Given the description of an element on the screen output the (x, y) to click on. 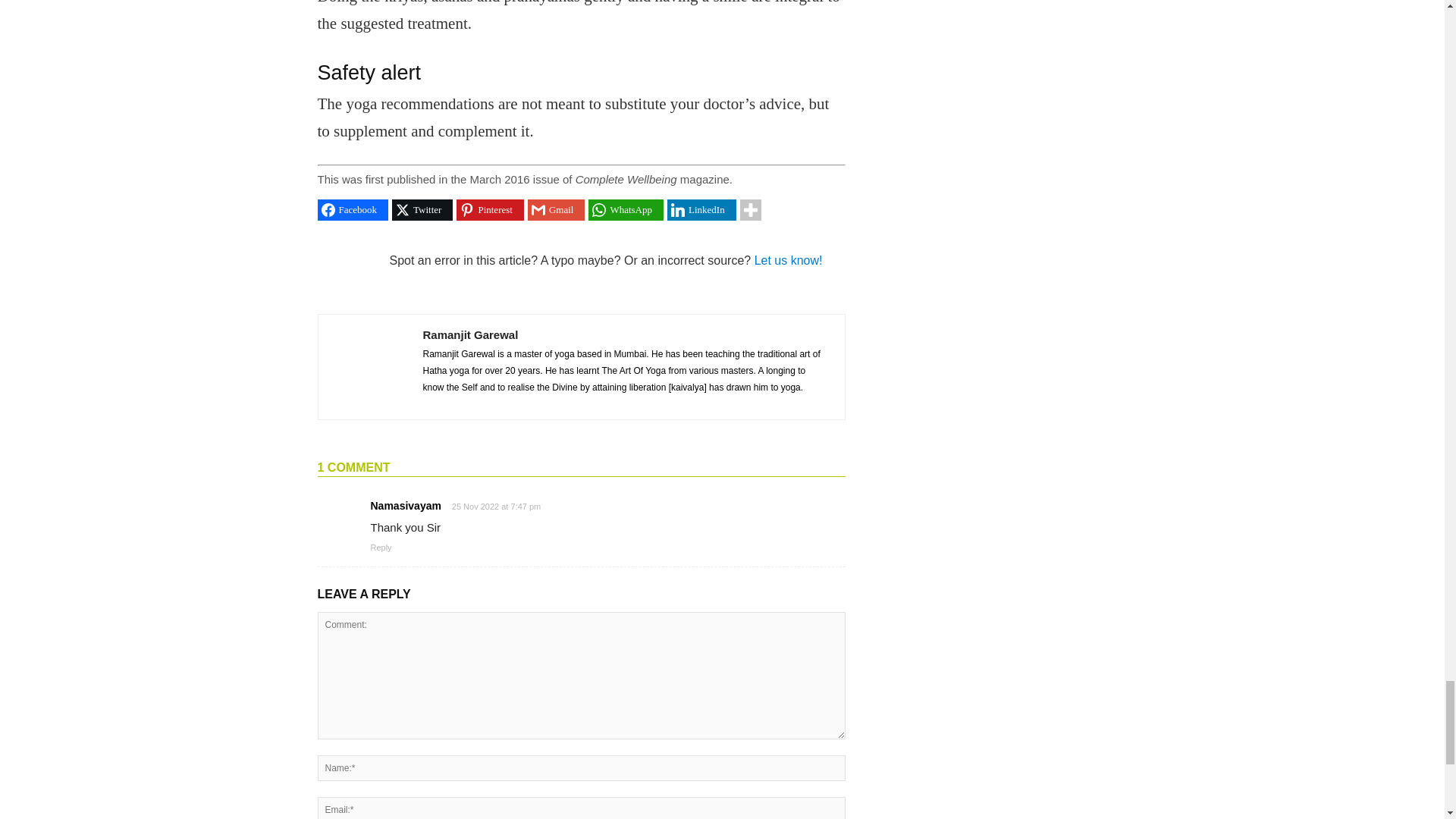
Share on Facebook (352, 209)
Share on Twitter (421, 209)
